Given the description of an element on the screen output the (x, y) to click on. 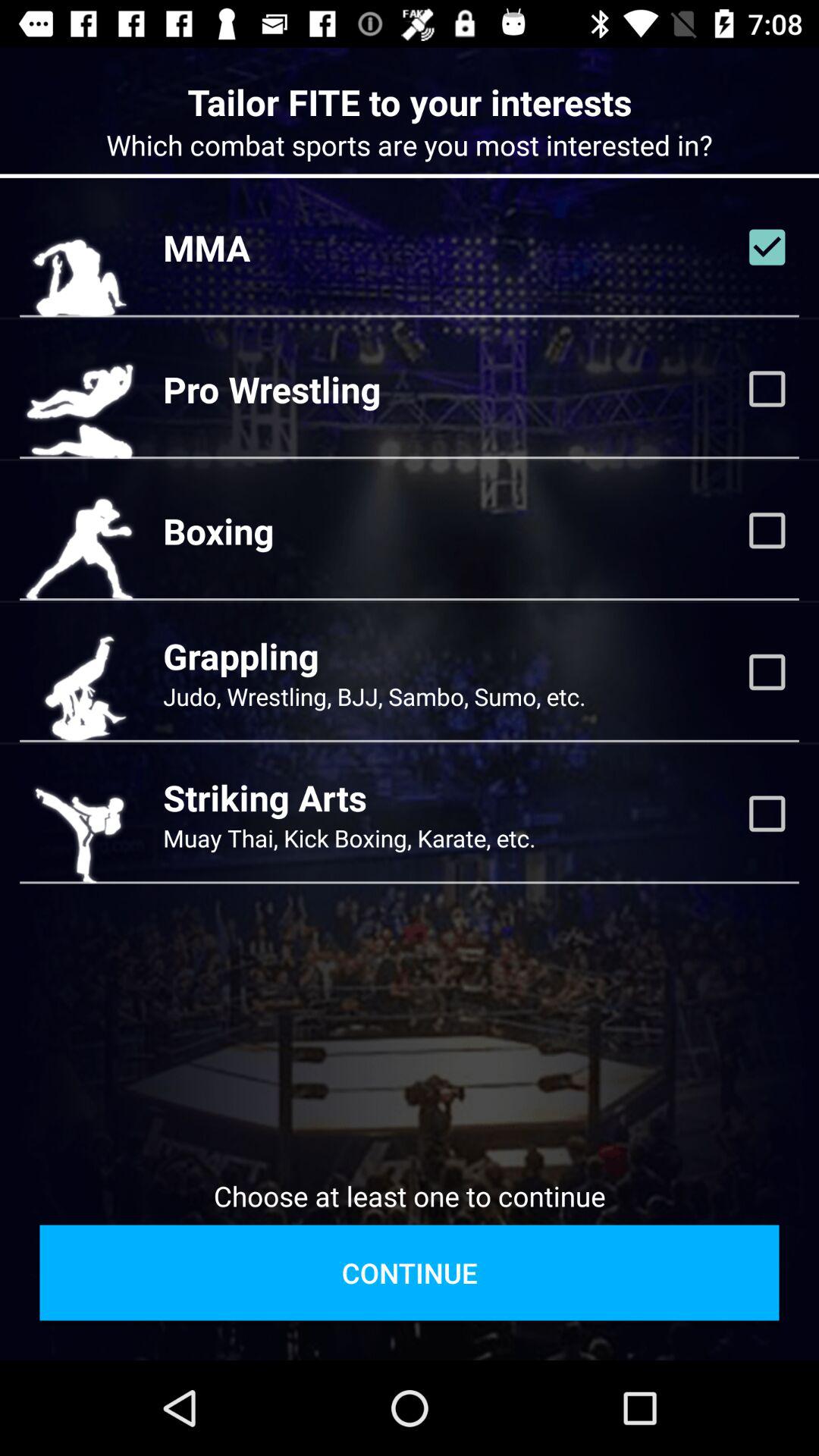
toggle grappling (767, 672)
